Given the description of an element on the screen output the (x, y) to click on. 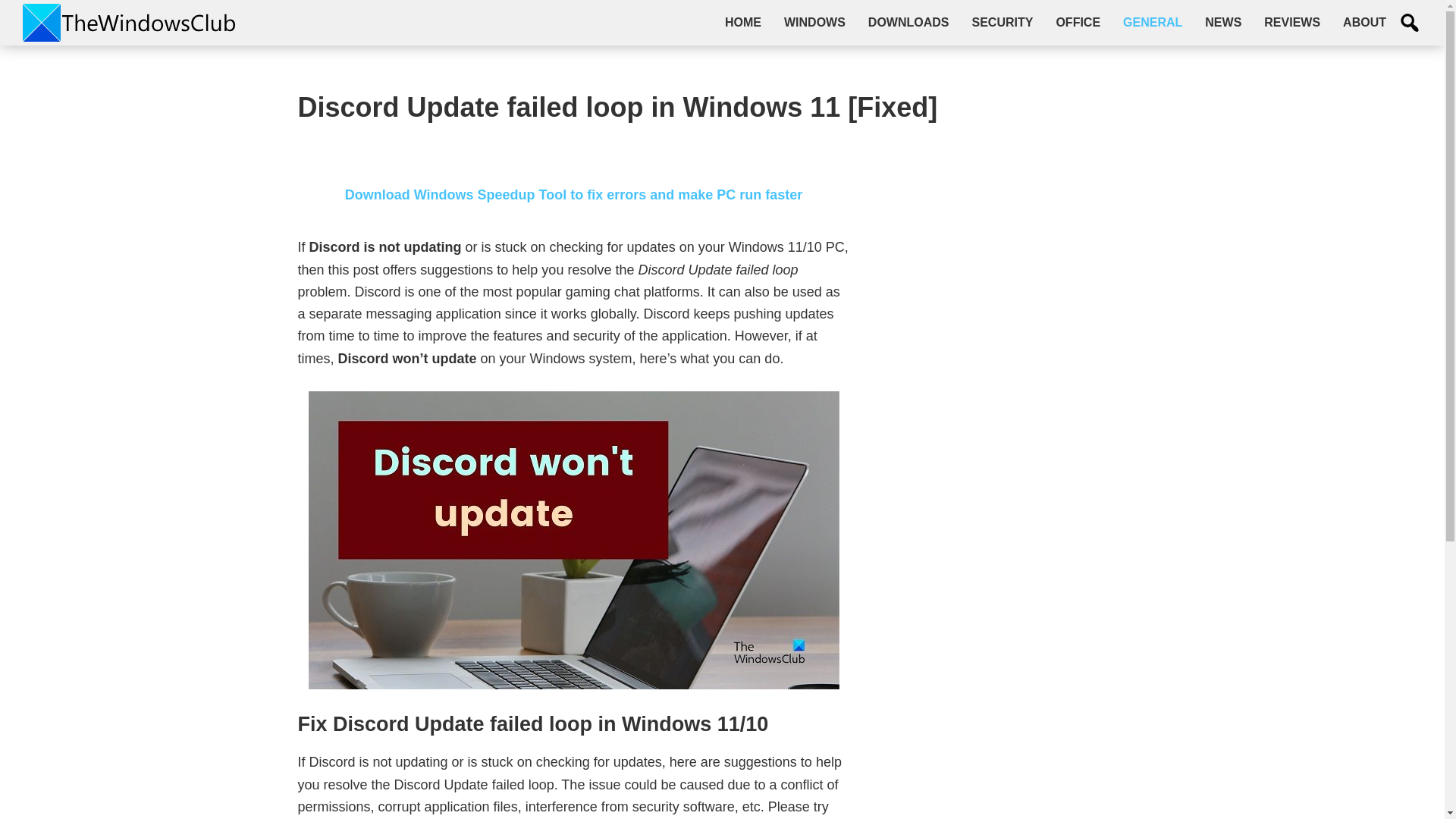
REVIEWS (1292, 22)
WINDOWS (815, 22)
NEWS (1222, 22)
DOWNLOADS (908, 22)
SECURITY (1001, 22)
HOME (743, 22)
Show Search (1409, 22)
GENERAL (1152, 22)
